Given the description of an element on the screen output the (x, y) to click on. 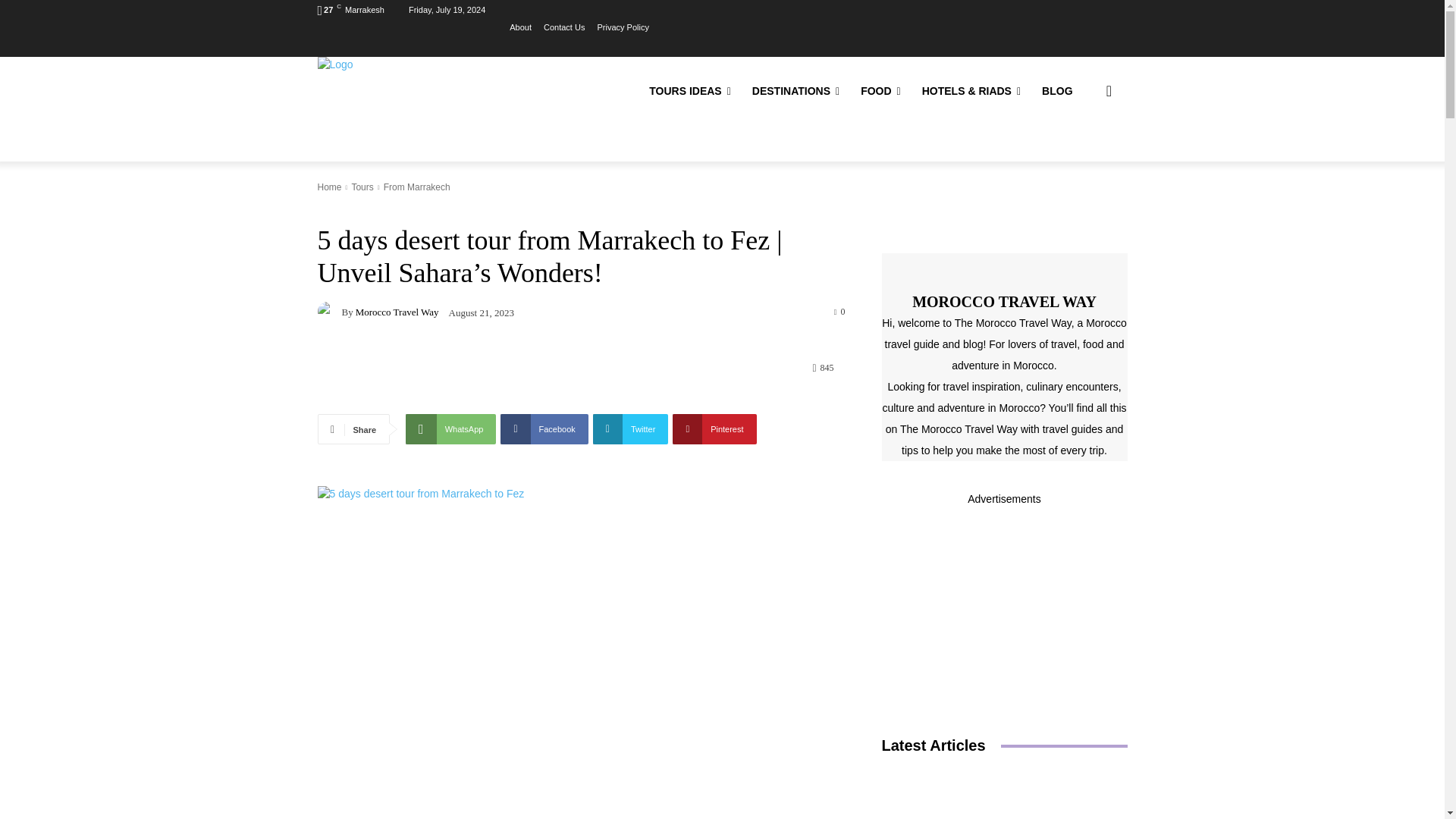
TOURS IDEAS (690, 90)
About (520, 27)
Contact Us (564, 27)
Privacy Policy (621, 27)
